Given the description of an element on the screen output the (x, y) to click on. 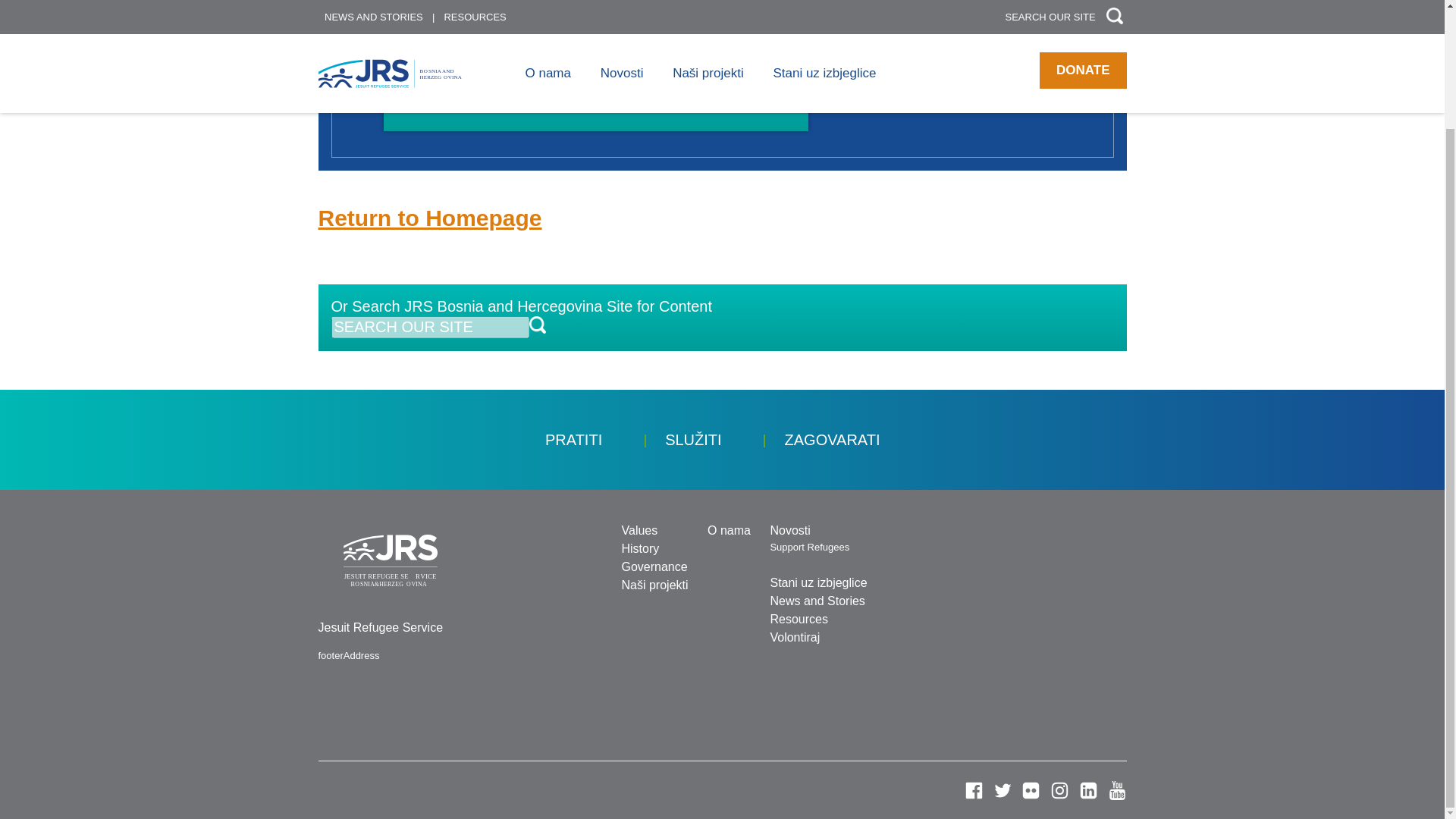
Resources (798, 618)
Novosti (789, 530)
ZAGOVARATI (832, 439)
Instagram (1058, 790)
Volontiraj (794, 636)
Values (639, 530)
Twitter (1001, 790)
Flickr (1031, 790)
Support Refugees (809, 546)
Return to Homepage (429, 217)
